Given the description of an element on the screen output the (x, y) to click on. 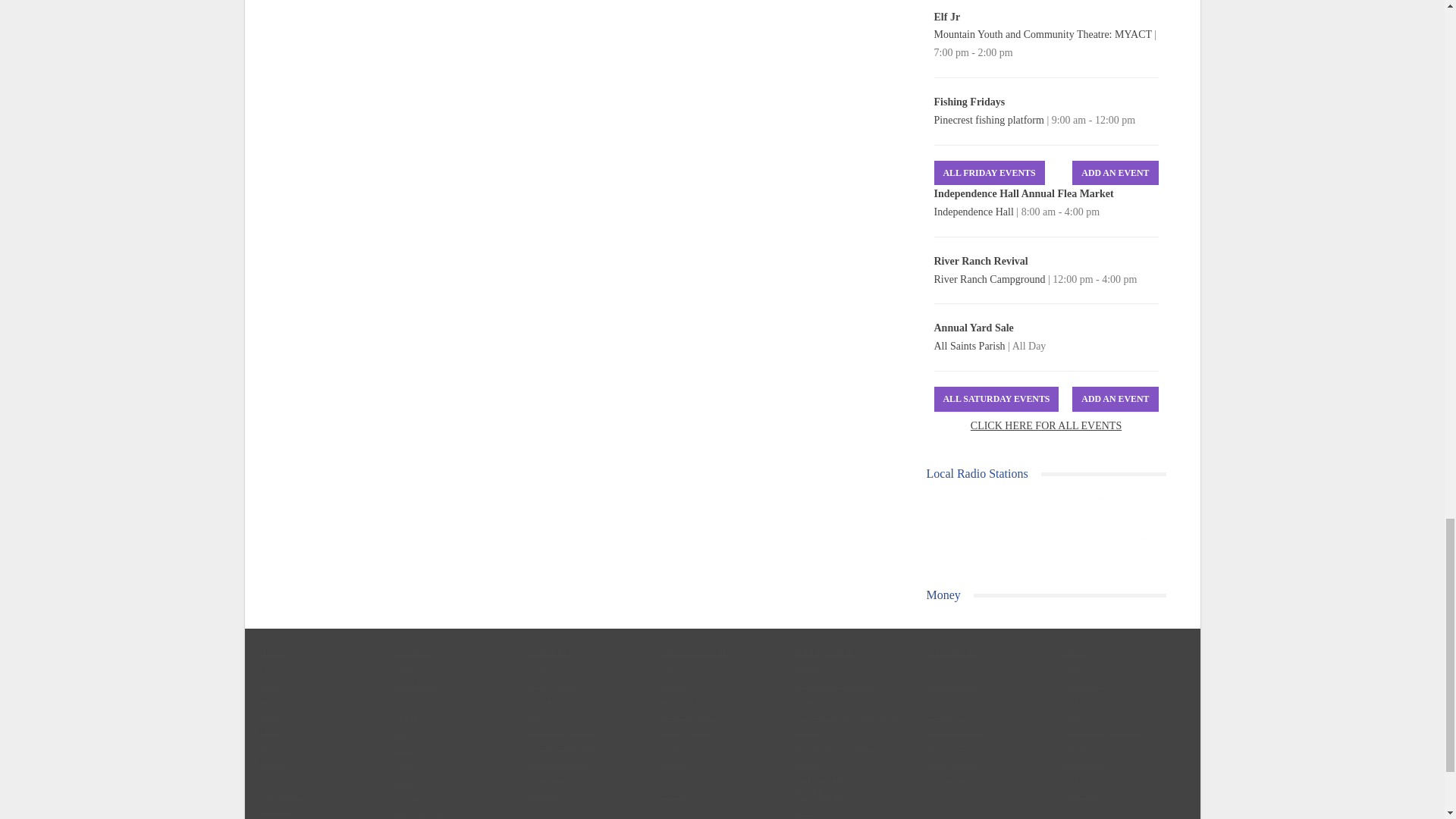
All Saturday Events (996, 398)
All Friday Events (989, 172)
Add An Event (1114, 172)
Add An Event (1114, 398)
